Given the description of an element on the screen output the (x, y) to click on. 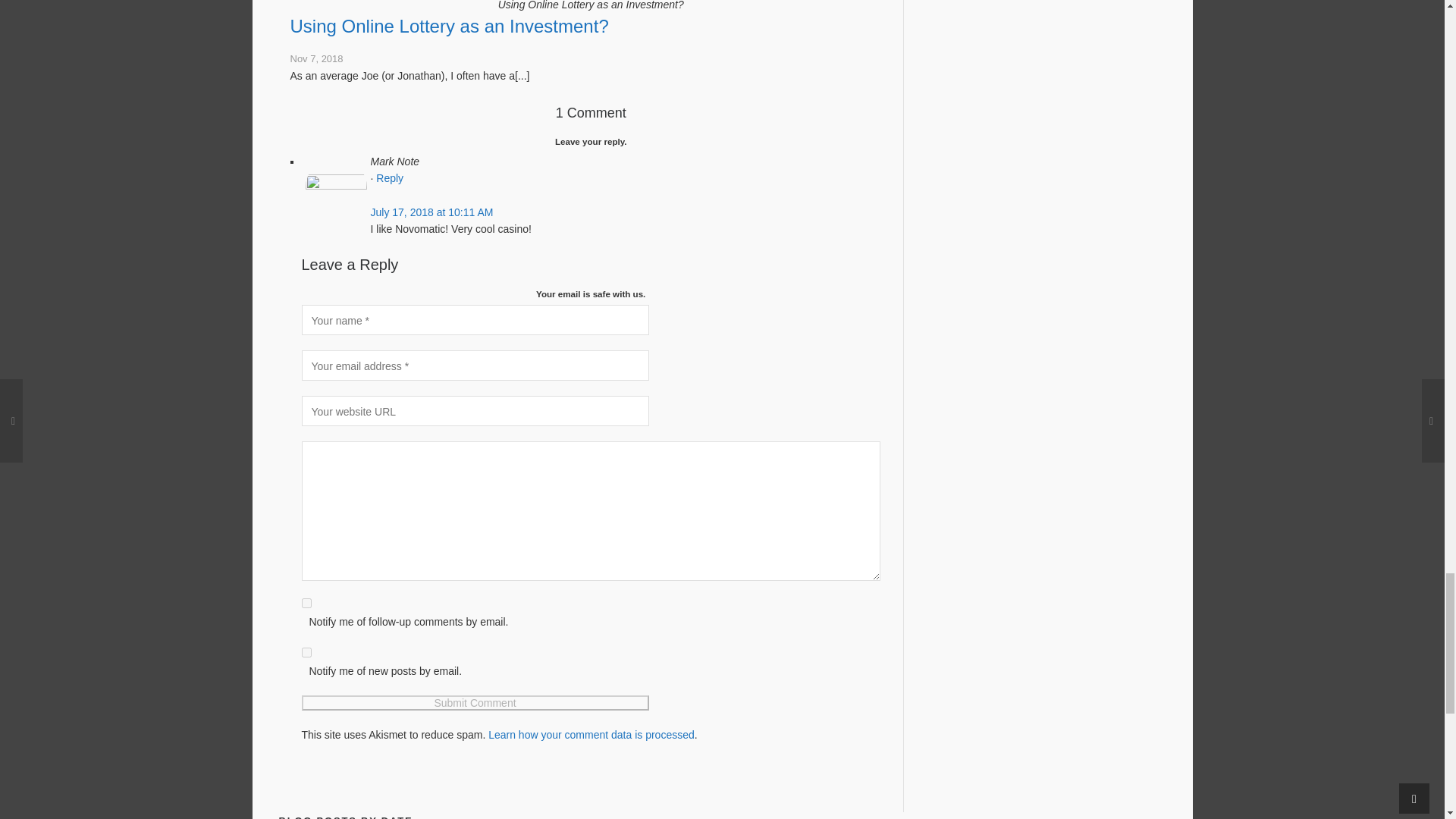
subscribe (306, 603)
subscribe (306, 652)
Submit Comment (475, 702)
